Given the description of an element on the screen output the (x, y) to click on. 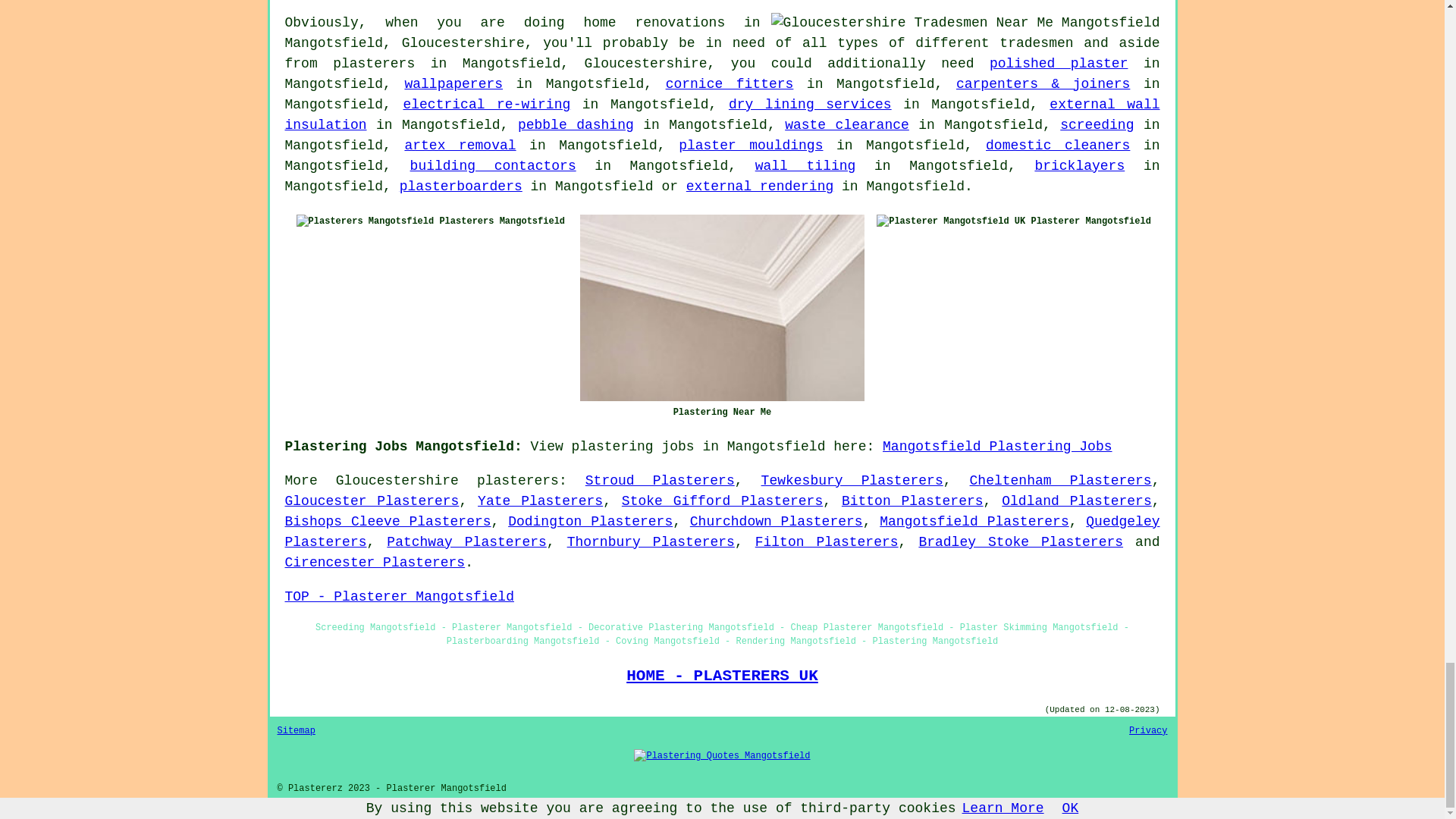
Gloucester Plasterers (372, 500)
Plastering Near Me Mangotsfield Gloucestershire (721, 307)
Gloucestershire Tradesmen Near Me Mangotsfield (965, 23)
Plasterers Mangotsfield (365, 221)
Stroud Plasterers (660, 480)
Cheltenham Plasterers (1060, 480)
Plasterer Mangotsfield UK (950, 221)
Tewkesbury Plasterers (852, 480)
